Given the description of an element on the screen output the (x, y) to click on. 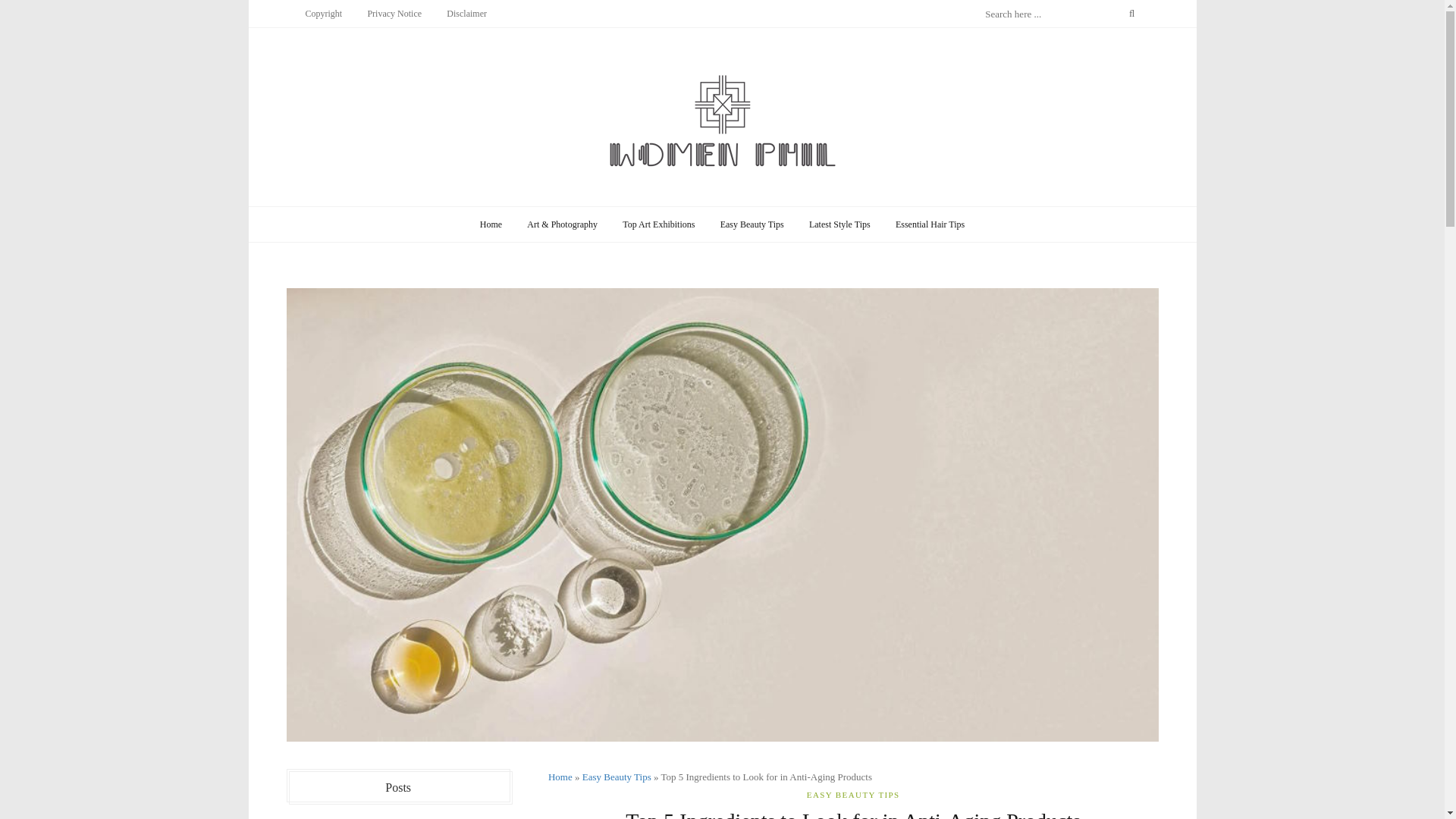
EASY BEAUTY TIPS (852, 794)
Privacy Notice (394, 13)
Easy Beauty Tips (616, 776)
Disclaimer (466, 13)
Home (491, 224)
Home (560, 776)
Top Art Exhibitions (658, 224)
Copyright (323, 13)
Easy Beauty Tips (752, 224)
Latest Style Tips (839, 224)
Home (560, 776)
Easy Beauty Tips (616, 776)
Essential Hair Tips (929, 224)
